Given the description of an element on the screen output the (x, y) to click on. 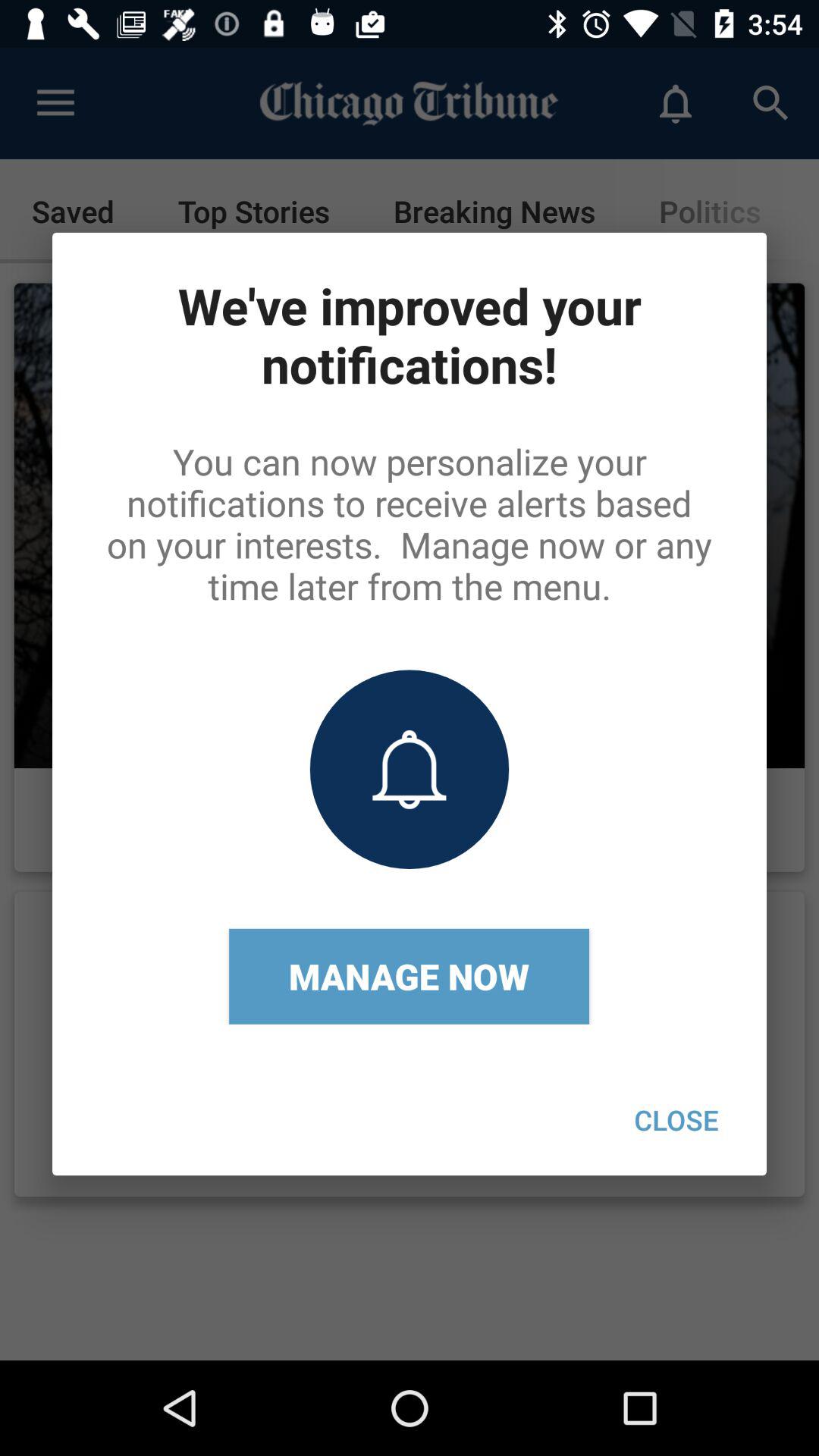
launch the item below the you can now icon (676, 1119)
